Given the description of an element on the screen output the (x, y) to click on. 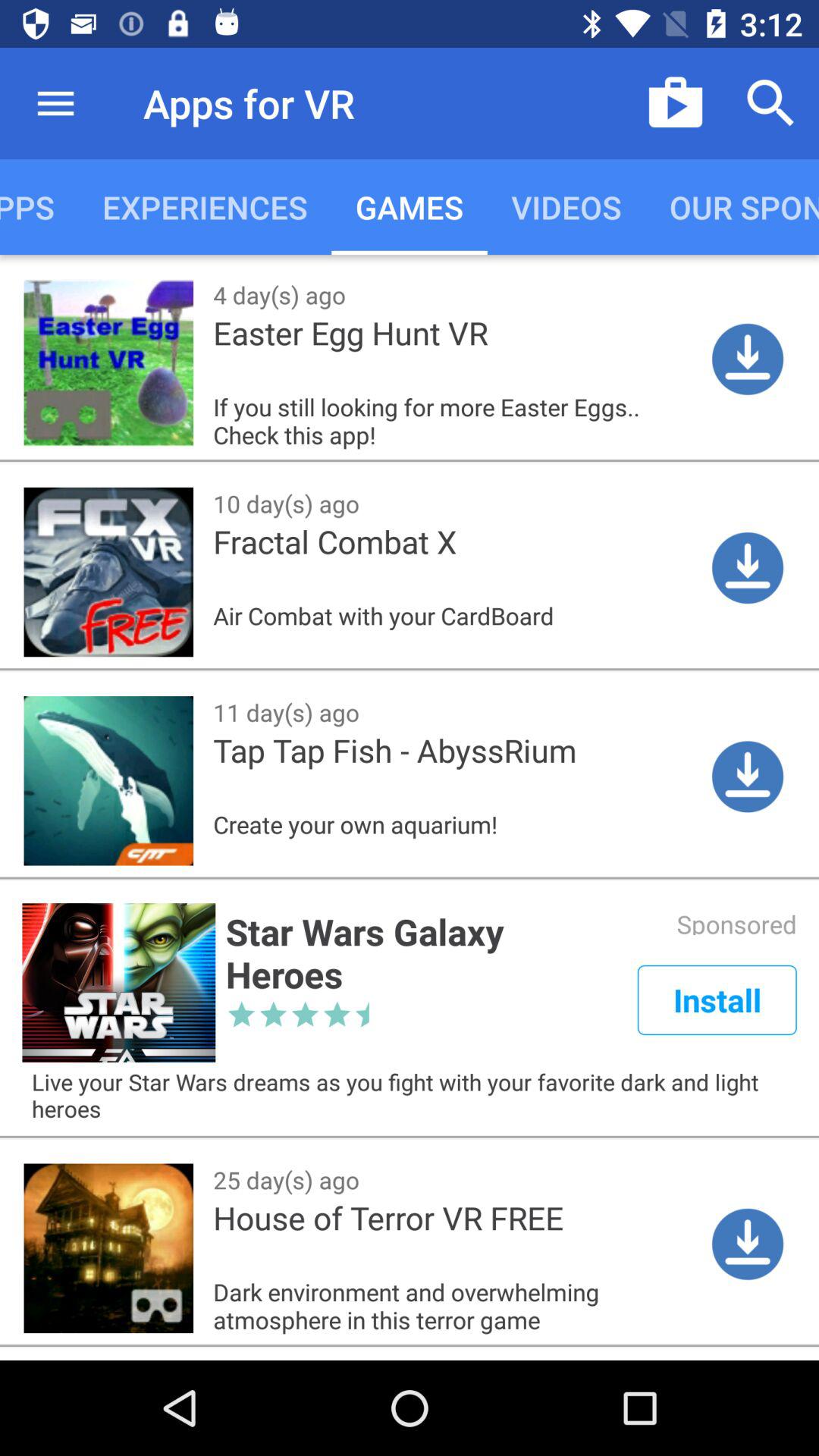
select item next to apps for vr item (55, 103)
